Given the description of an element on the screen output the (x, y) to click on. 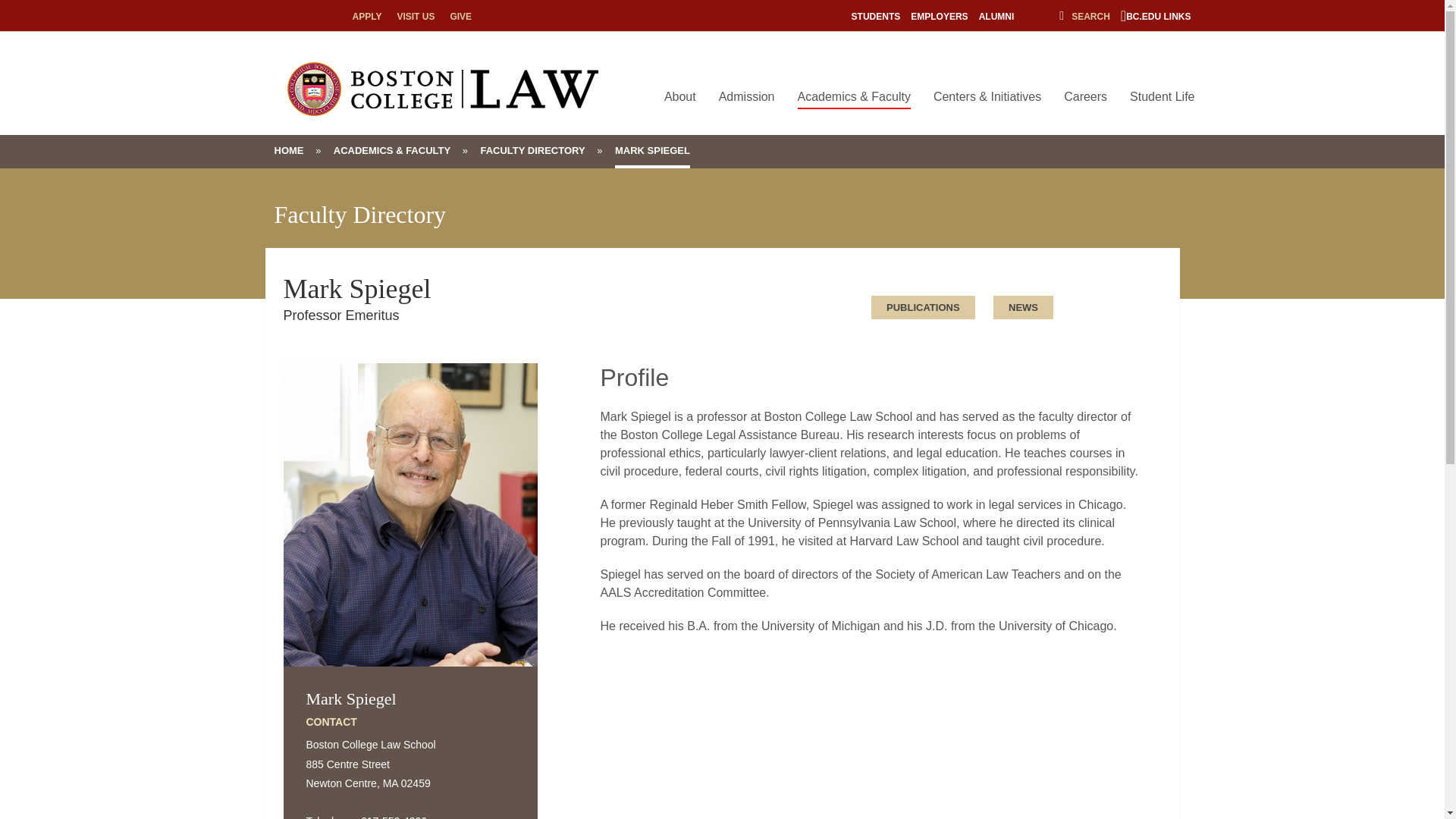
STUDENTS (876, 16)
SEARCH (1084, 16)
BC.EDU LINKS (1156, 16)
Admission (747, 96)
About (679, 96)
VISIT US (414, 16)
ALUMNI (996, 16)
APPLY (366, 16)
EMPLOYERS (939, 16)
GIVE (460, 16)
